Given the description of an element on the screen output the (x, y) to click on. 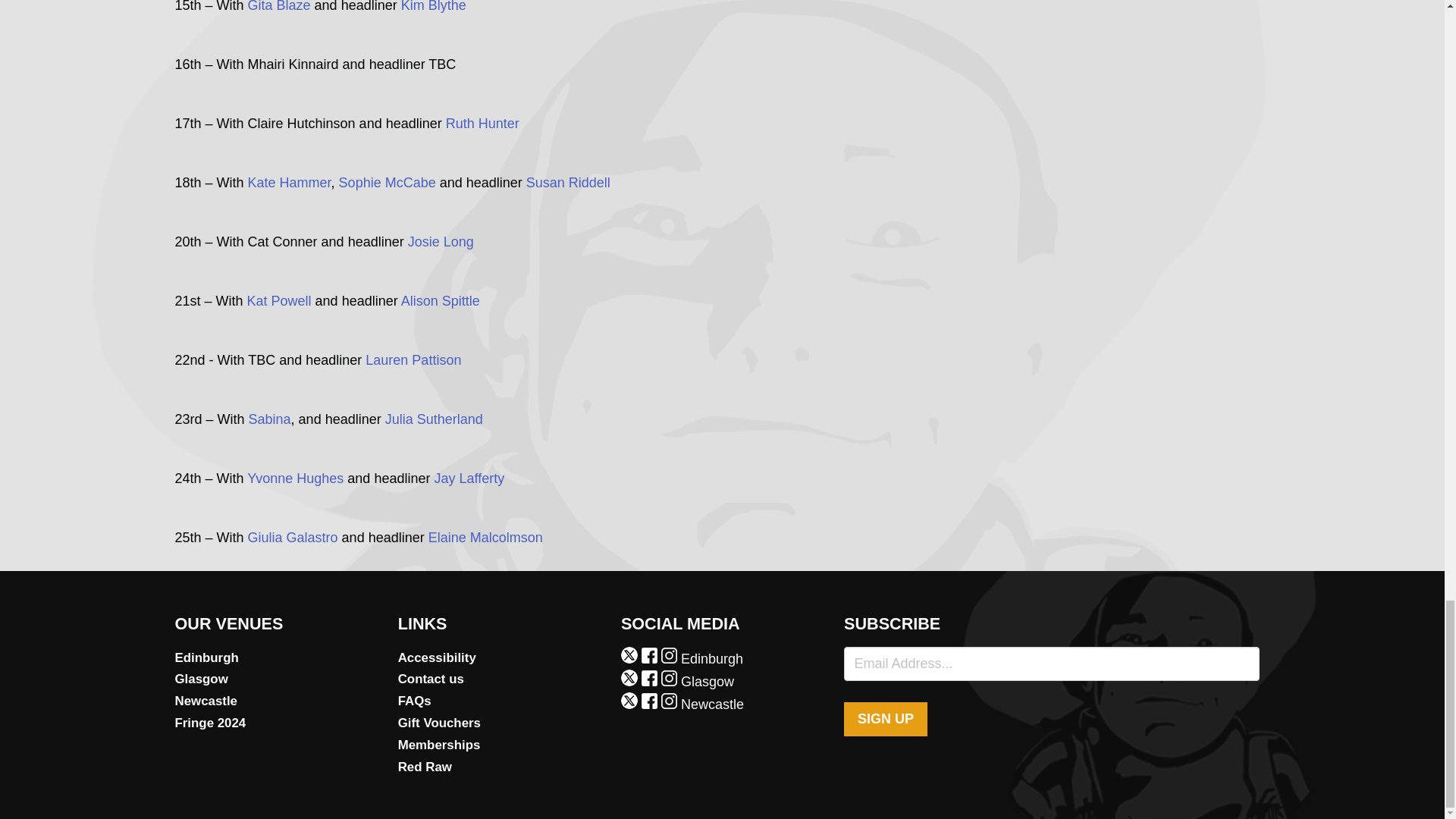
Newcastle Facebook Link (651, 703)
Newcastle Instagram Link (671, 703)
Glasgow Instagram Link (671, 681)
Edinburgh Facebook Link (651, 658)
Glasgow Facebook Link (651, 681)
Edinburgh Instagram Link (671, 658)
Edinburgh Twitter link (631, 658)
Glasgow Twitter link (631, 681)
Newcastle Twitter link (631, 703)
